Given the description of an element on the screen output the (x, y) to click on. 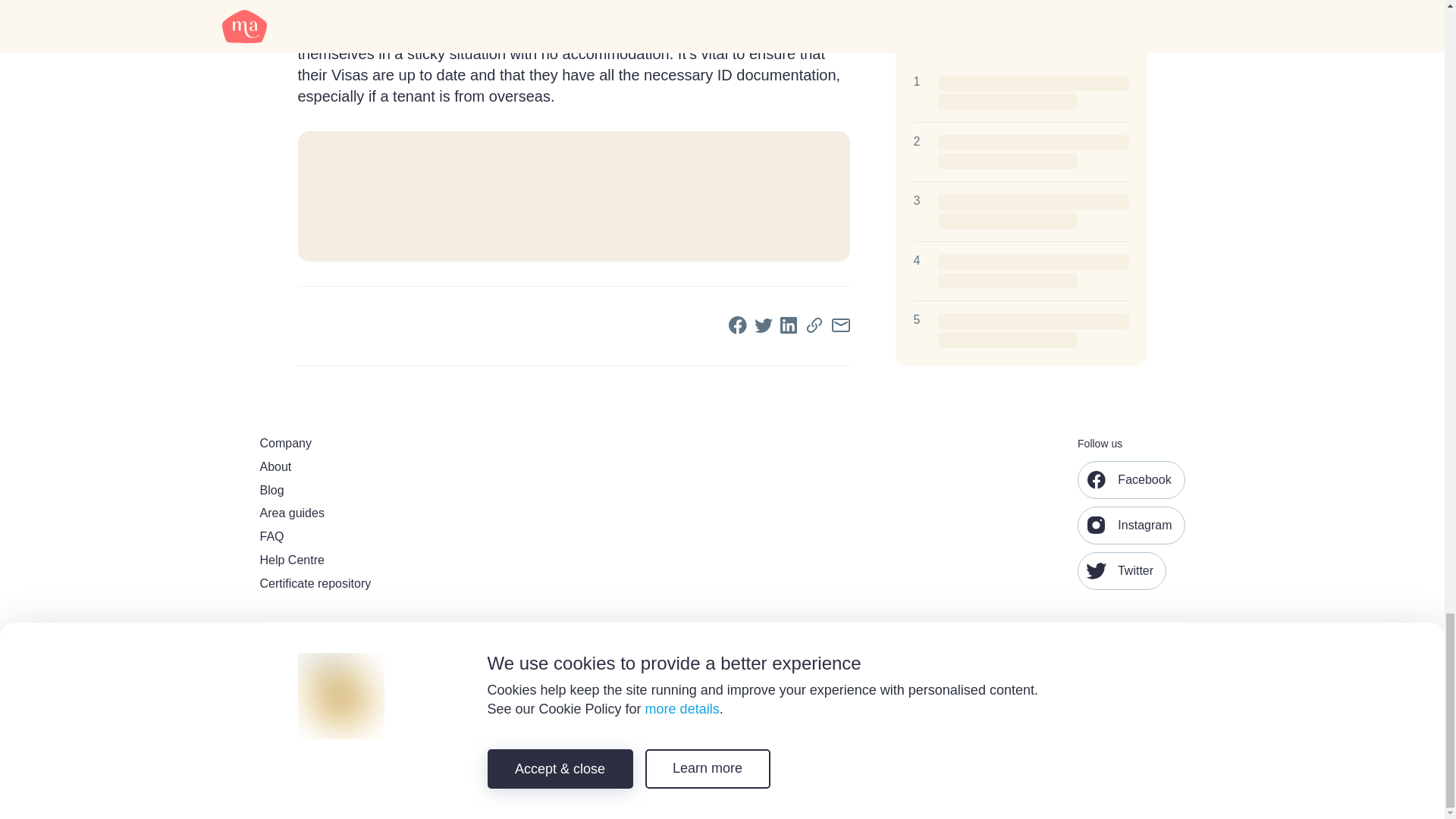
FAQ (354, 537)
Facebook (1131, 479)
Right to rent (1158, 798)
register.fca.org.uk (731, 748)
Twitter (1121, 570)
Certificate repository (354, 584)
Help Centre (354, 560)
Privacy policy (1084, 798)
About (354, 467)
Area guides (354, 513)
Instagram (1131, 525)
Term of service (1005, 798)
Blog (354, 490)
